Given the description of an element on the screen output the (x, y) to click on. 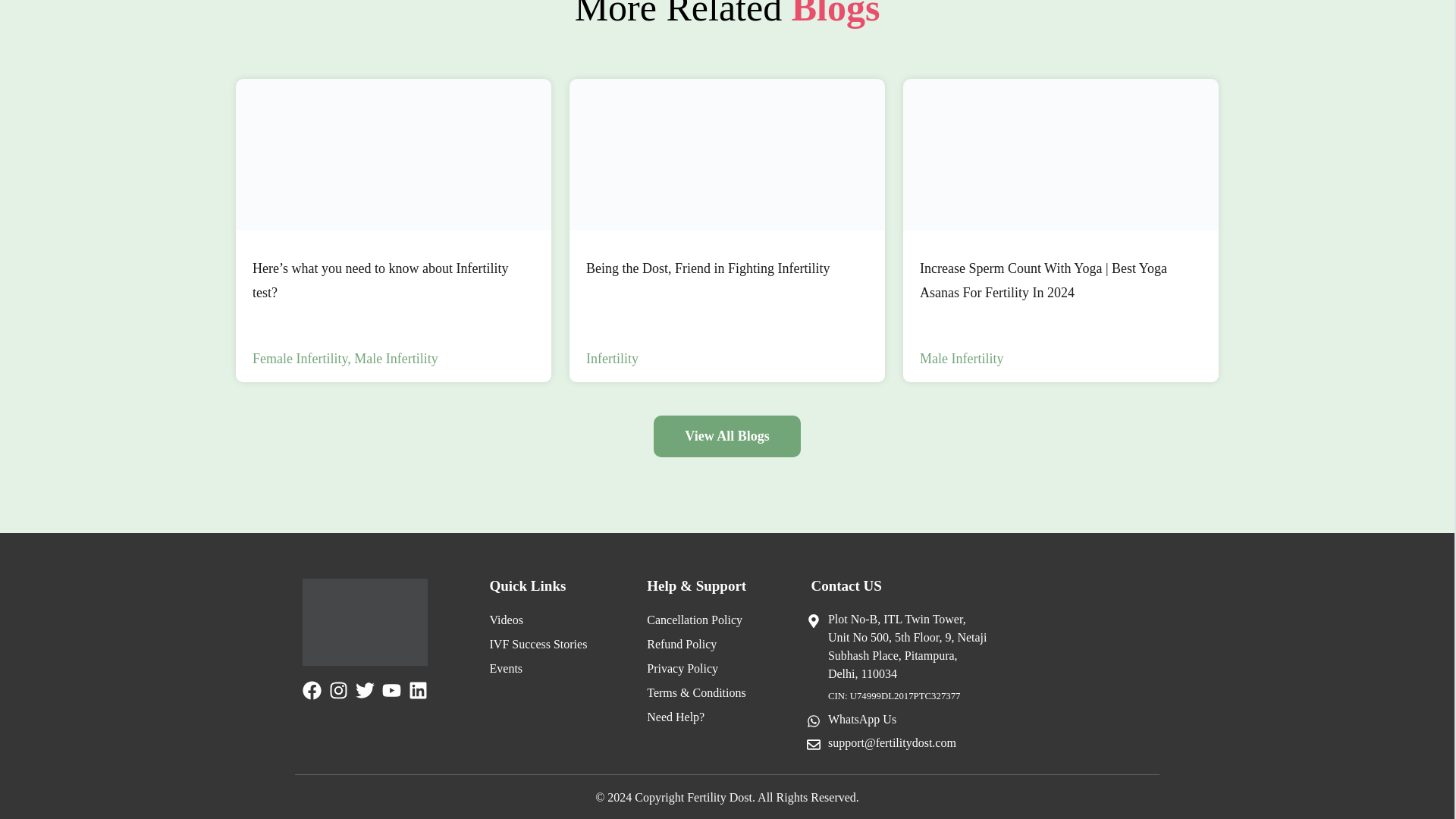
Being the Dost, Friend in Fighting Infertility (727, 154)
View All Blogs (727, 230)
